Given the description of an element on the screen output the (x, y) to click on. 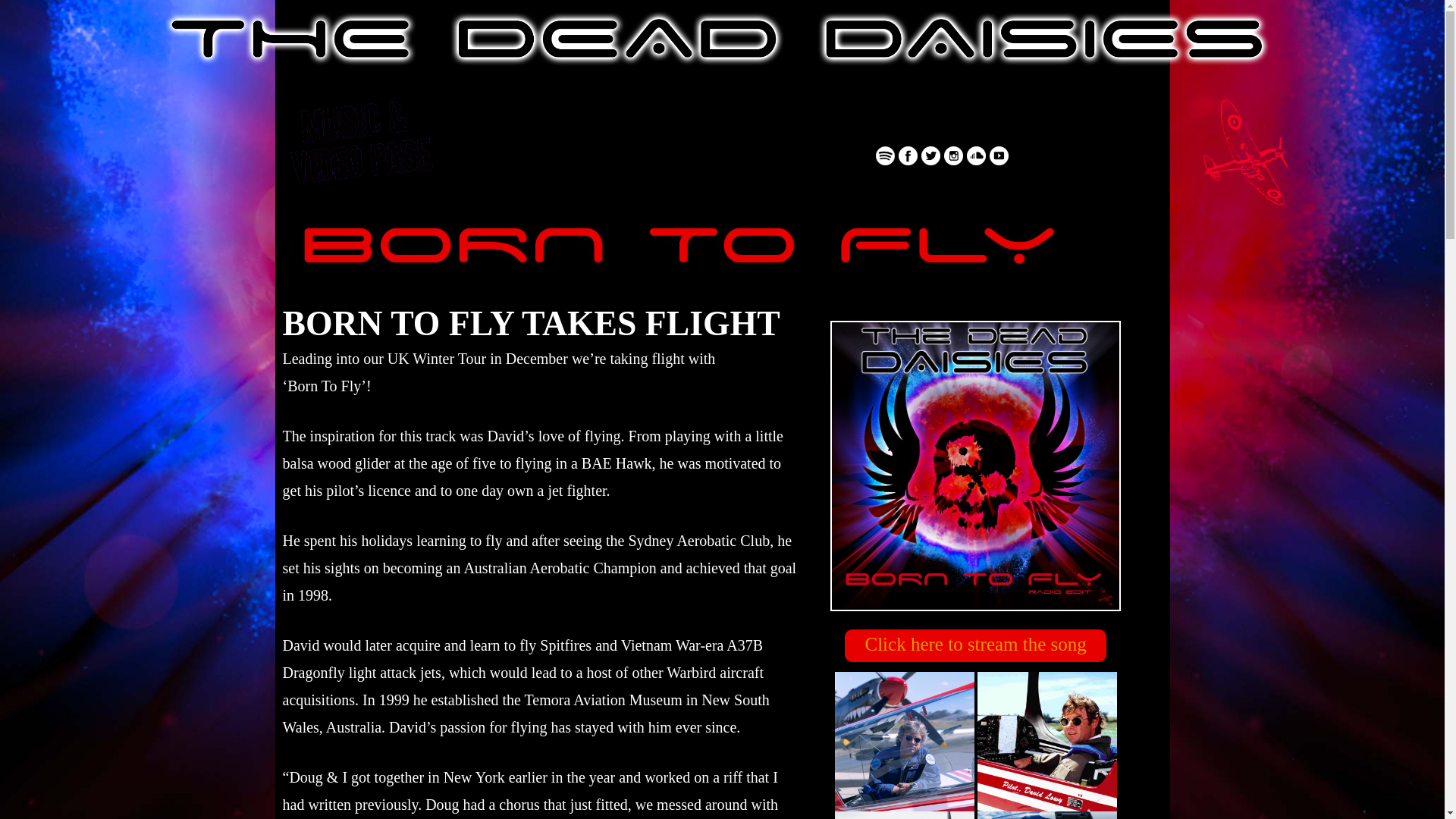
Born To Fly (975, 465)
Click here to stream the song (975, 645)
